Given the description of an element on the screen output the (x, y) to click on. 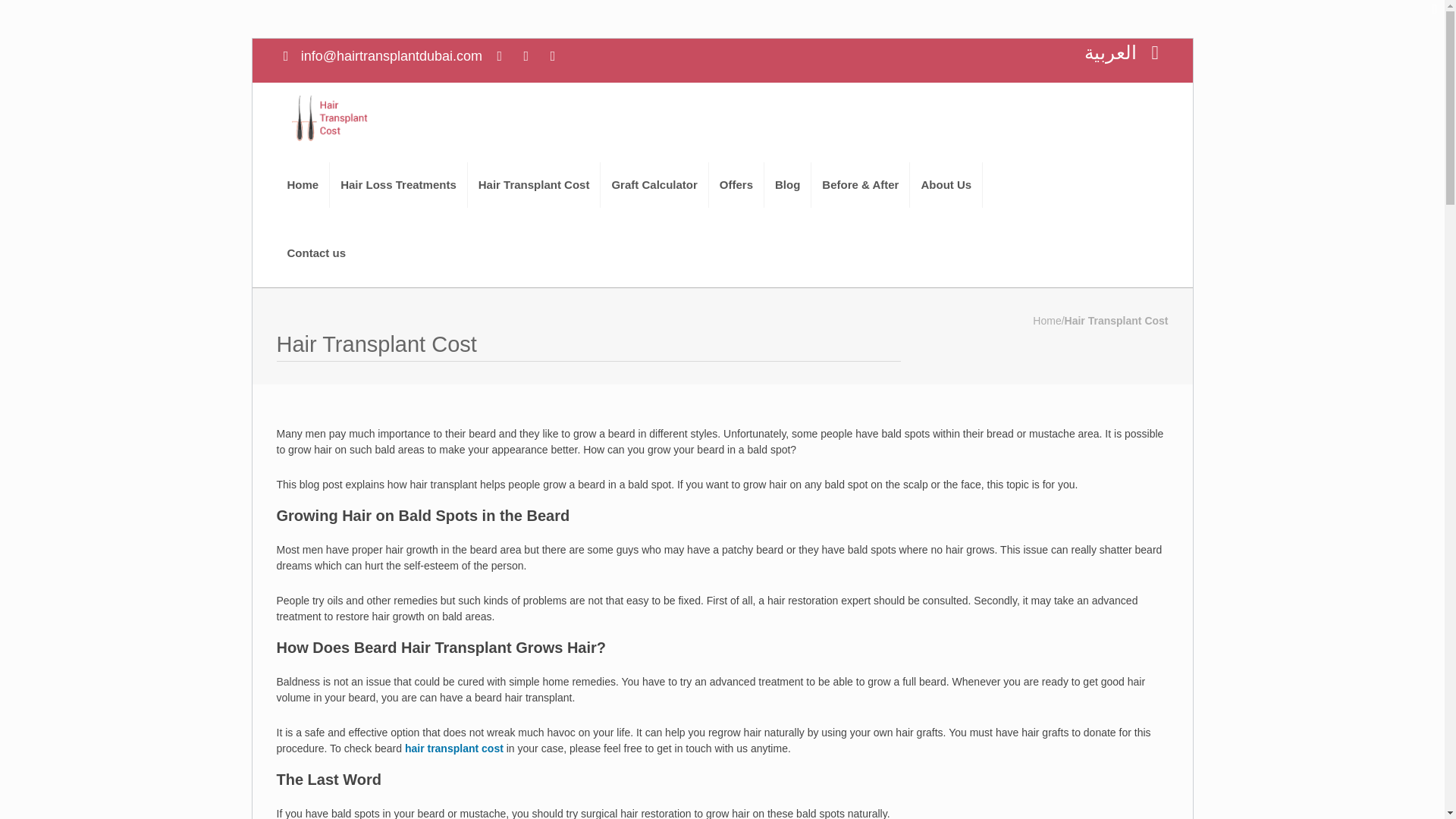
Twitter (525, 56)
Contact us (316, 253)
Hair Loss Treatments (398, 184)
Graft Calculator (653, 184)
Facebook (498, 56)
Hair Transplant In Dubai cost (329, 116)
YouTube (552, 56)
hair transplant cost (453, 748)
Hair Transplant Cost (534, 184)
